Given the description of an element on the screen output the (x, y) to click on. 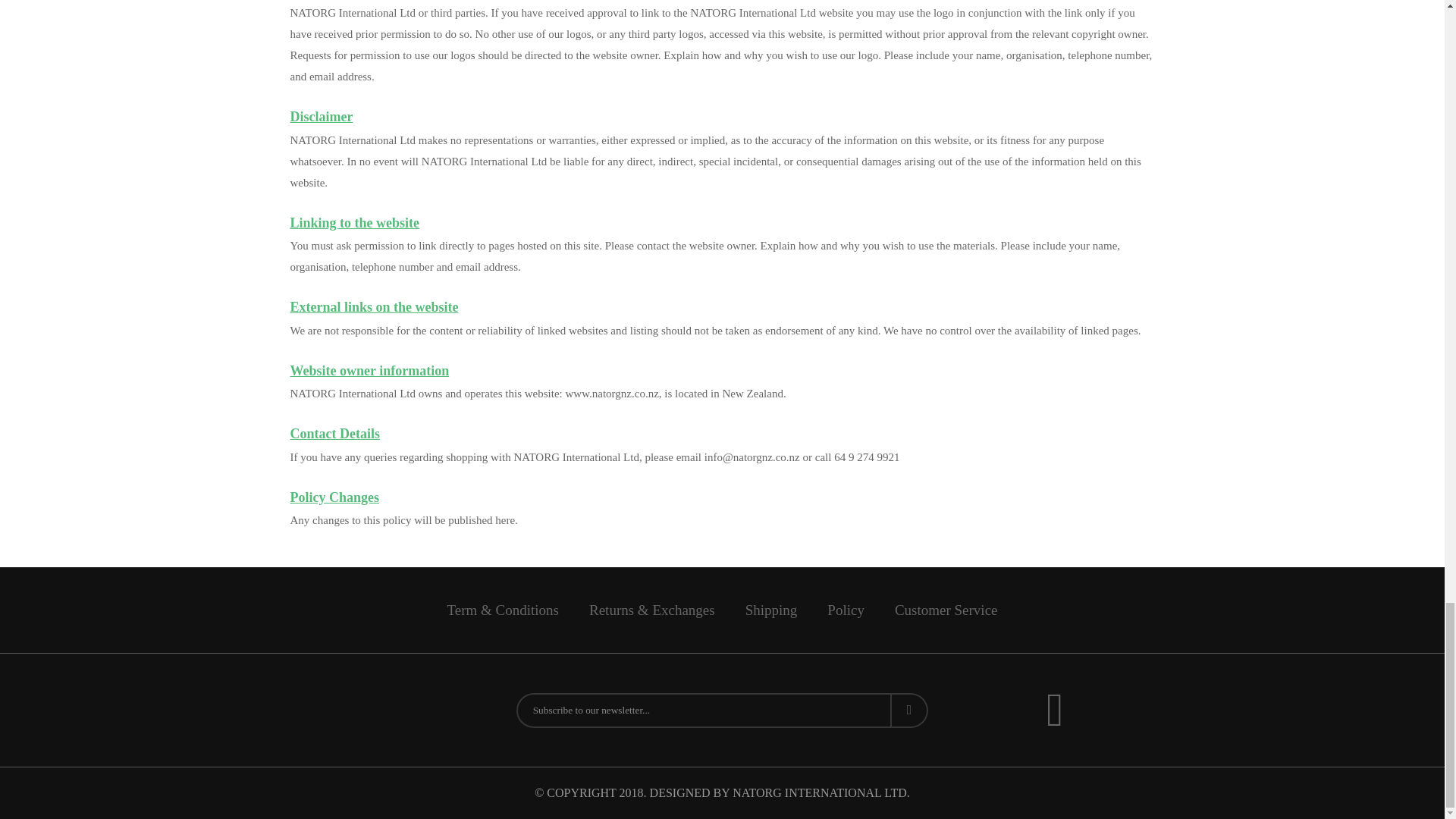
Customer Service (946, 609)
Policy (845, 609)
Shipping (771, 609)
